Given the description of an element on the screen output the (x, y) to click on. 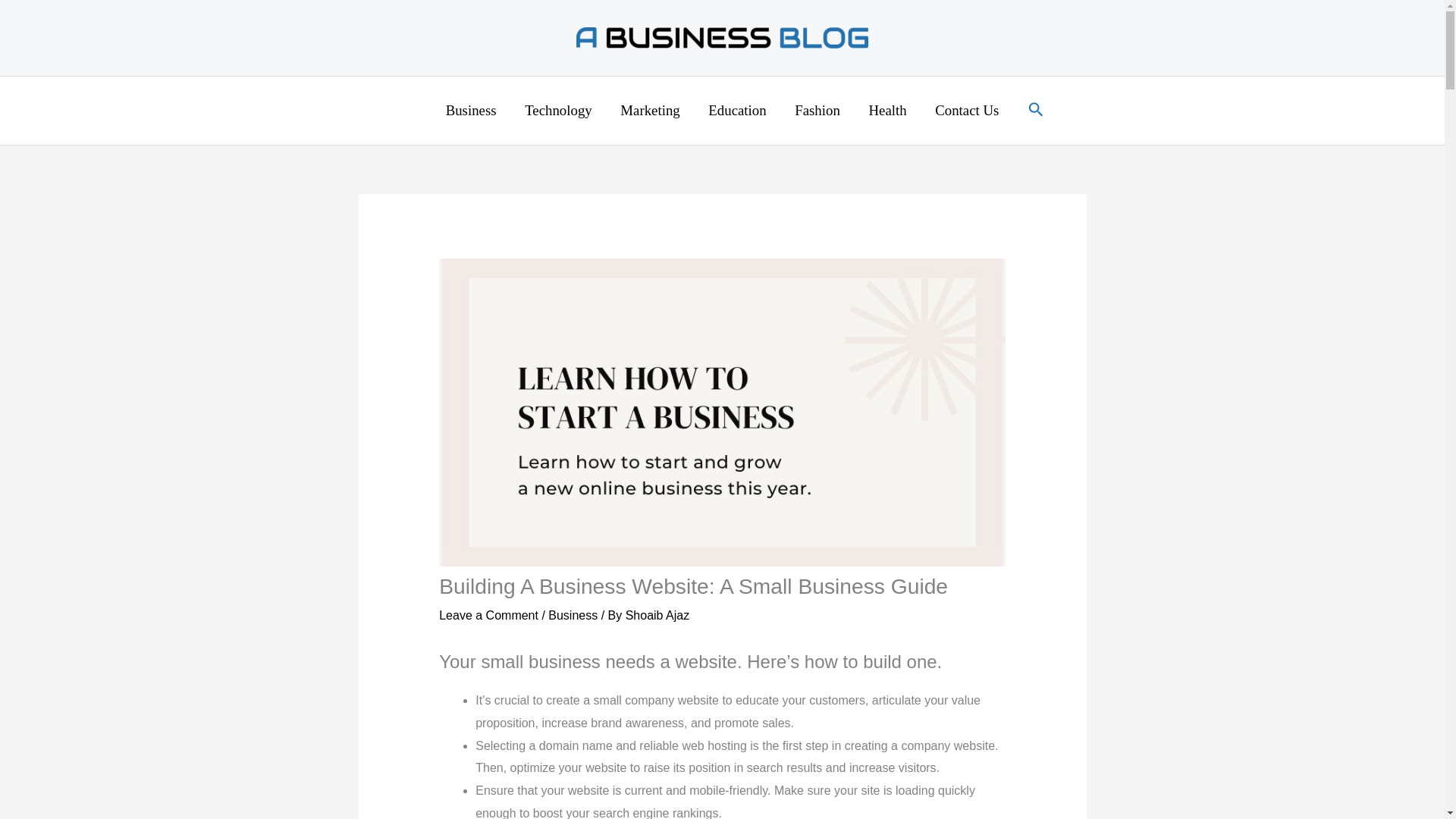
Marketing (650, 110)
Education (737, 110)
Shoaib Ajaz (658, 615)
Health (887, 110)
Business (470, 110)
Contact Us (966, 110)
Technology (558, 110)
Fashion (816, 110)
Business (572, 615)
View all posts by Shoaib Ajaz (658, 615)
